Given the description of an element on the screen output the (x, y) to click on. 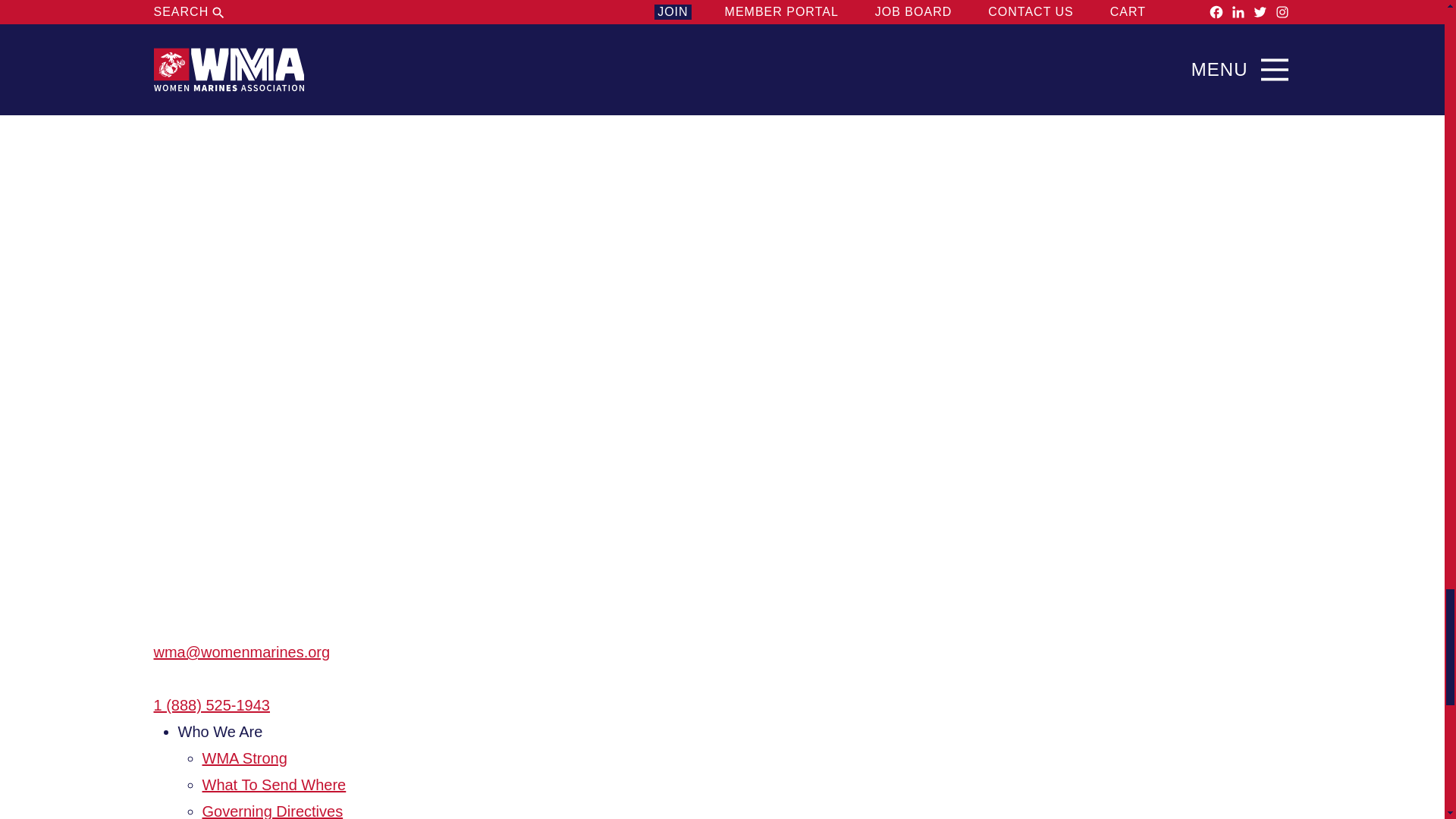
Phone (163, 679)
